Given the description of an element on the screen output the (x, y) to click on. 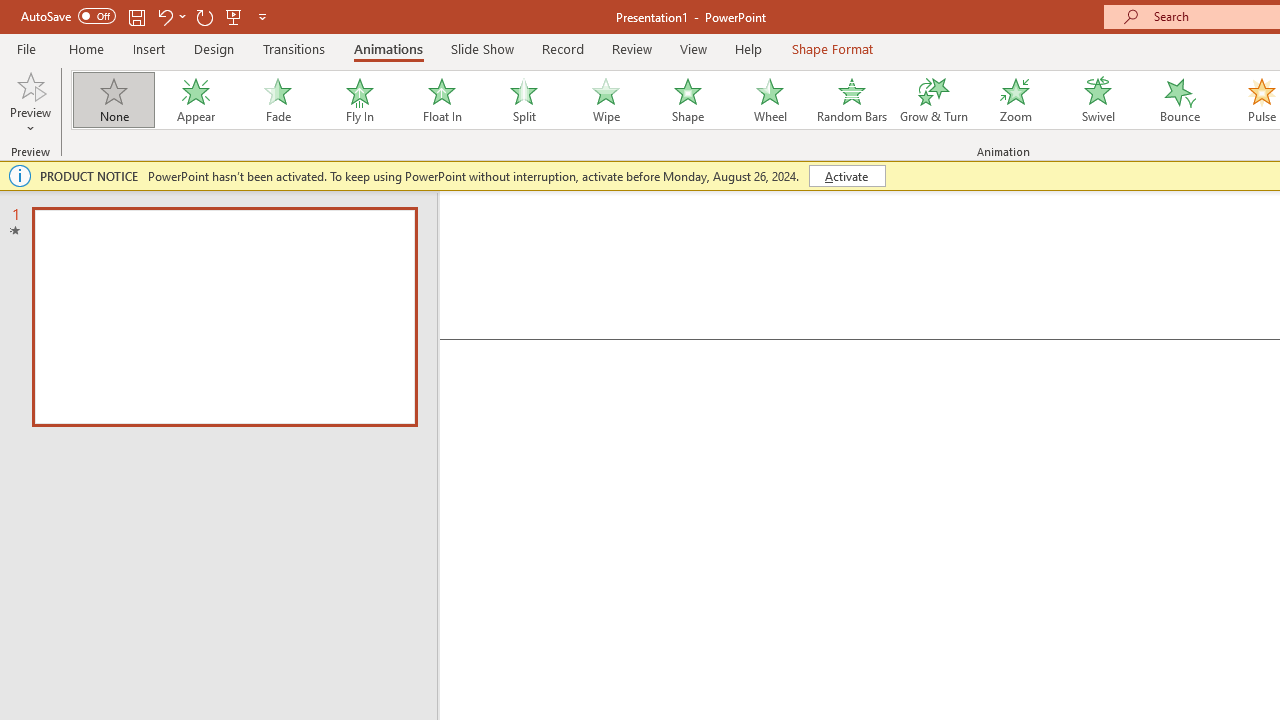
Fade (277, 100)
Shape (687, 100)
Activate (846, 175)
Grow & Turn (934, 100)
